Given the description of an element on the screen output the (x, y) to click on. 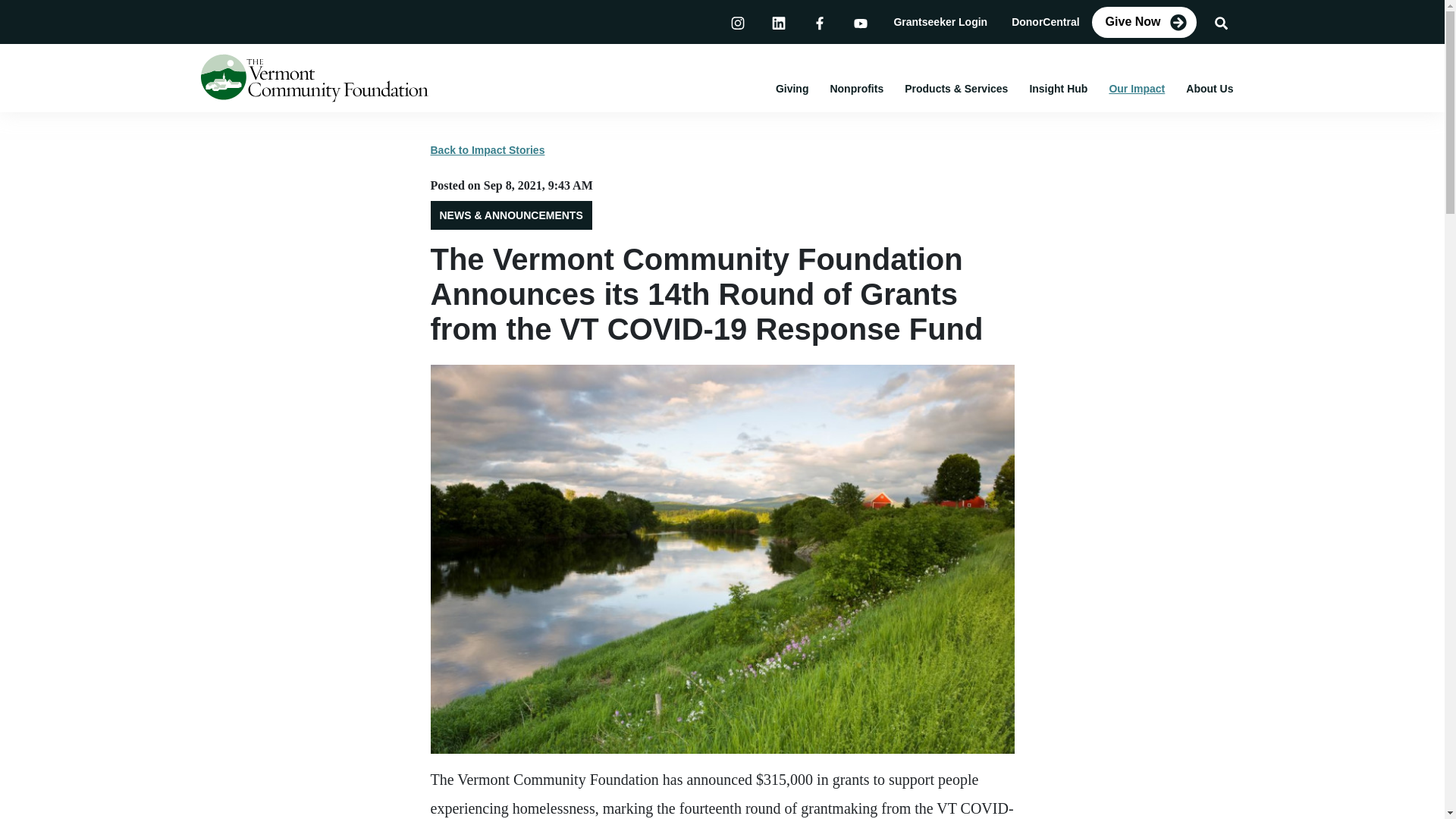
Grantseeker Login (939, 21)
DonorCentral (1044, 21)
Insight Hub (1057, 88)
Give Now (1144, 21)
Giving (792, 88)
Nonprofits (855, 88)
Our Impact (1135, 88)
Vermont Community Foundation (314, 77)
